Given the description of an element on the screen output the (x, y) to click on. 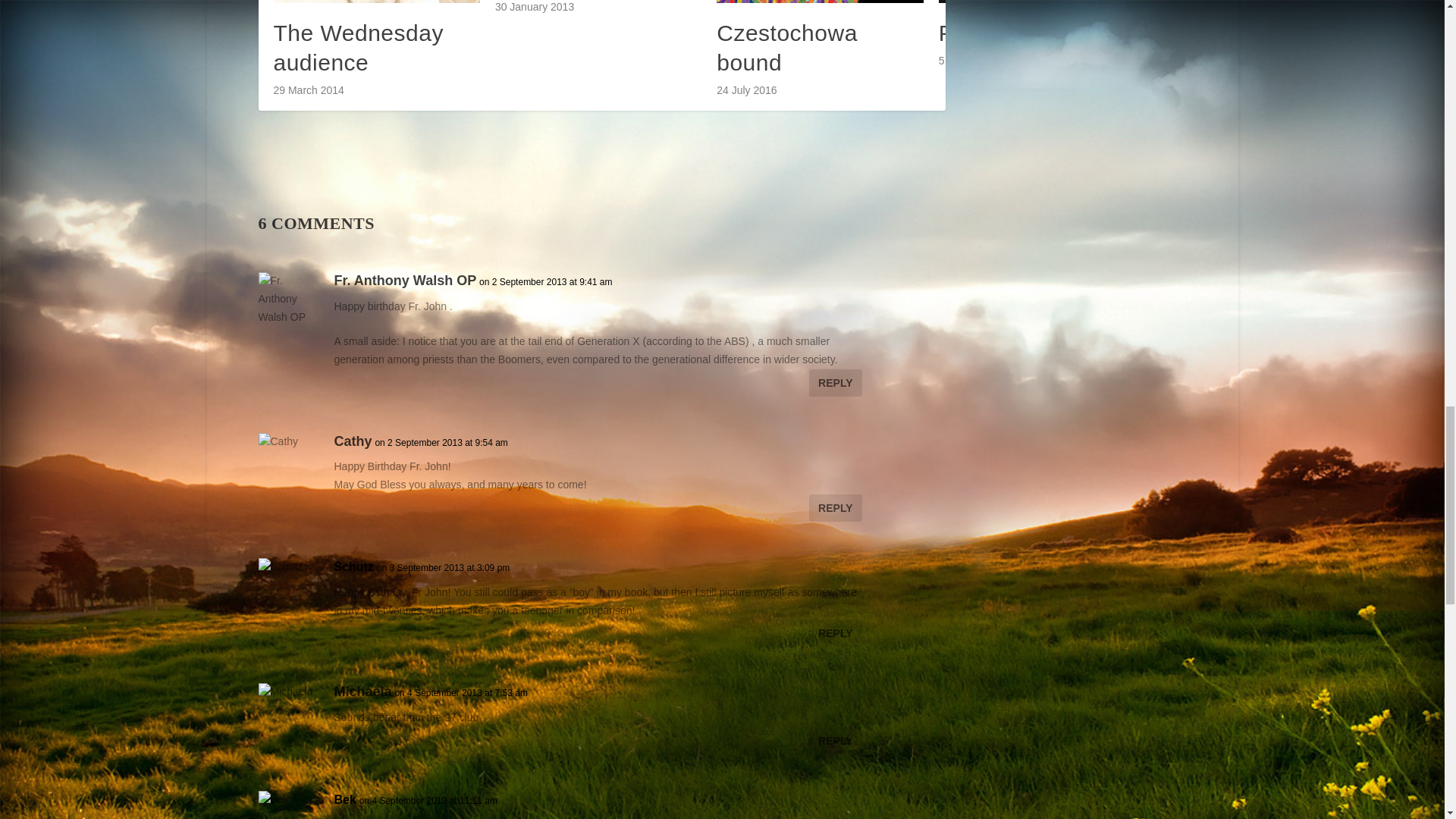
REPLY (835, 507)
REPLY (835, 382)
The Wednesday audience (376, 1)
The Wednesday audience (357, 46)
Czestochowa bound (786, 46)
Schutz (352, 566)
REPLY (835, 633)
